Given the description of an element on the screen output the (x, y) to click on. 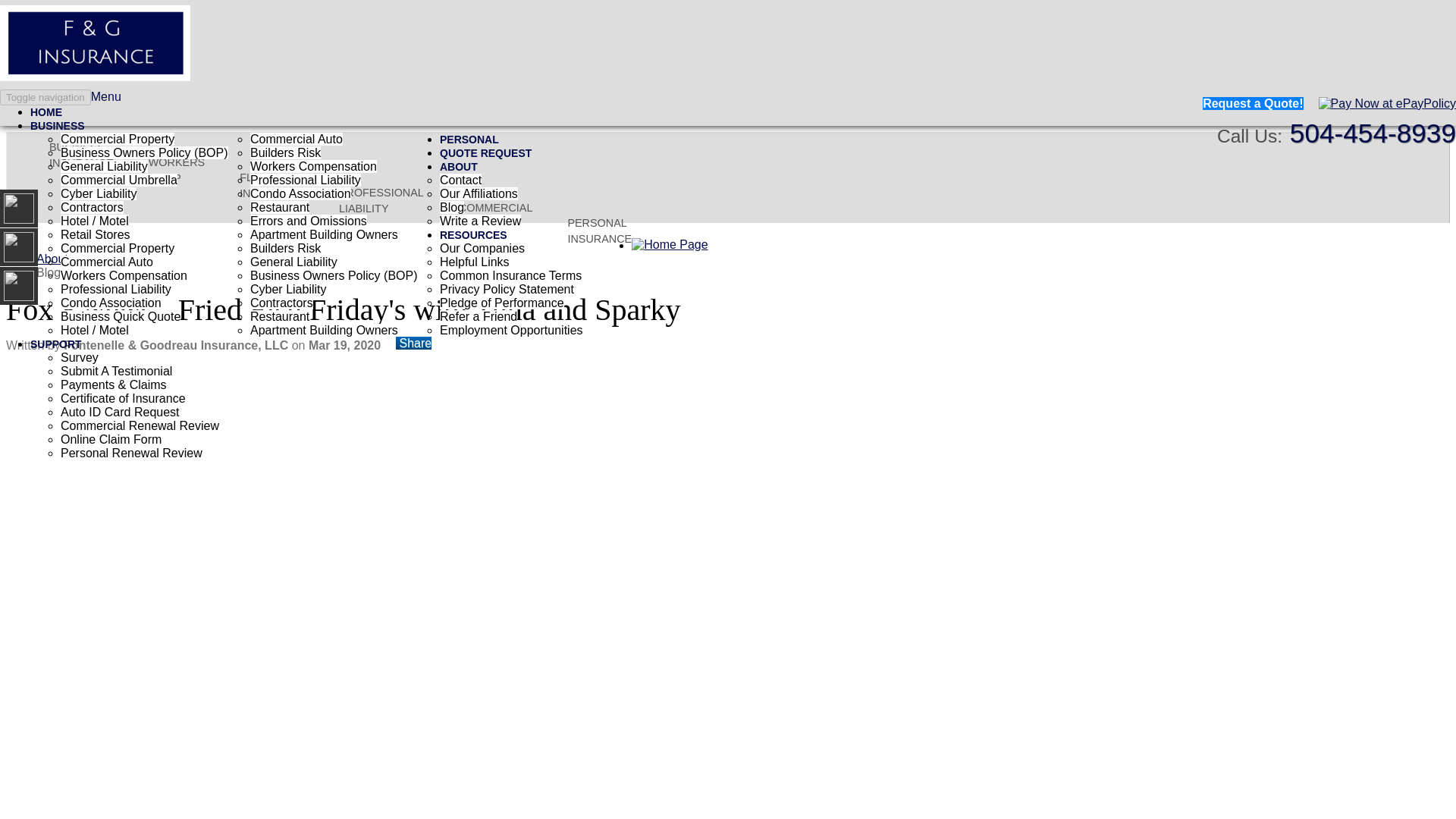
Business Quick Quote (120, 316)
Restaurant (279, 316)
Cyber Liability (98, 193)
Professional Liability (116, 288)
Request a Quote! (1252, 103)
Commercial Property (117, 247)
Builders Risk (285, 247)
General Liability (104, 165)
Commercial Umbrella (119, 179)
Toggle navigation (45, 97)
Condo Association (111, 302)
QUOTE REQUEST (486, 152)
Apartment Building Owners (323, 329)
Builders Risk (285, 152)
PERSONAL (469, 139)
